Given the description of an element on the screen output the (x, y) to click on. 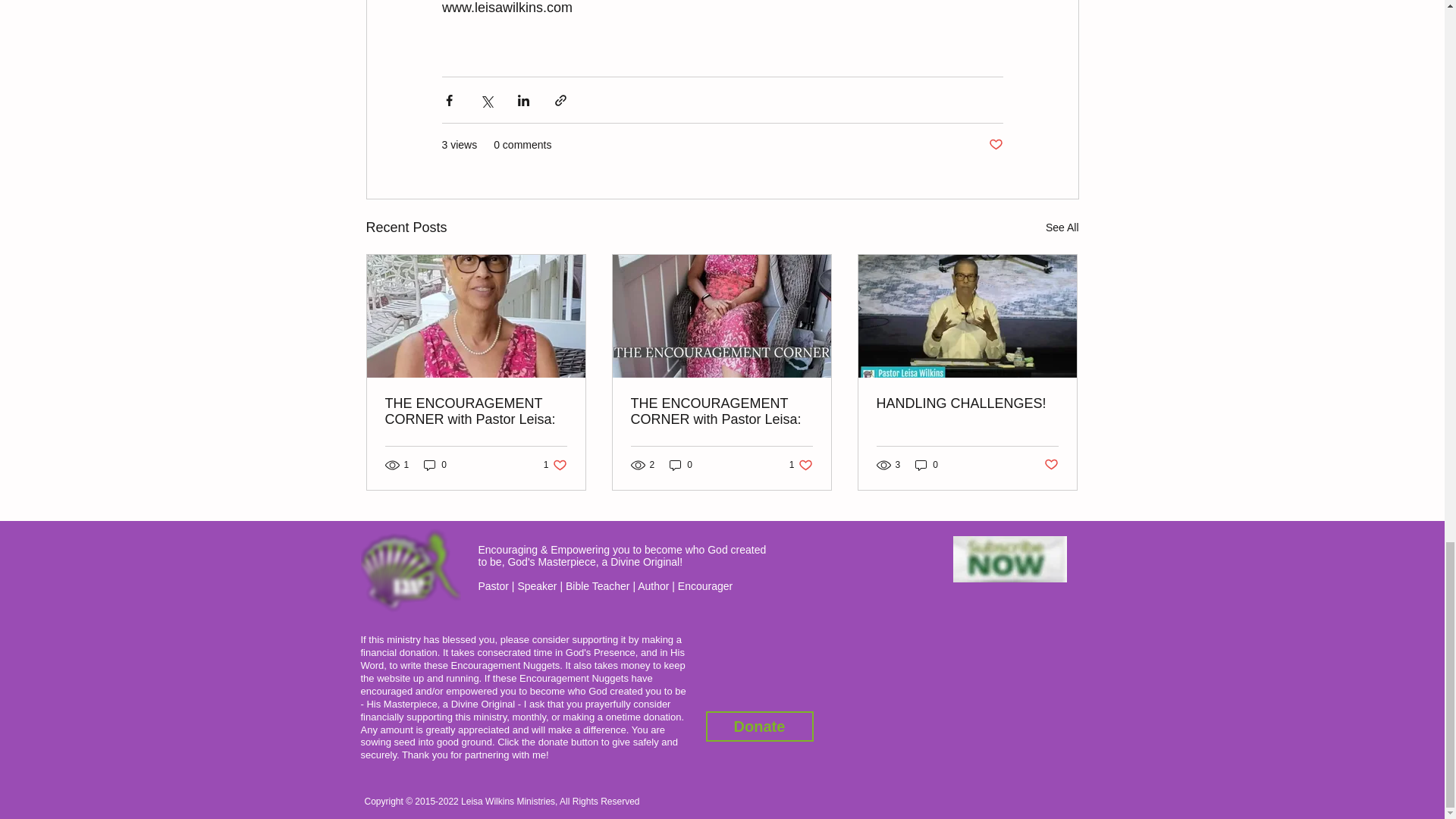
See All (1061, 228)
Post not marked as liked (995, 145)
0 (435, 464)
Donate (758, 726)
0 (681, 464)
HANDLING CHALLENGES! (967, 403)
0 (555, 464)
THE ENCOURAGEMENT CORNER with Pastor Leisa: (926, 464)
THE ENCOURAGEMENT CORNER with Pastor Leisa: (800, 464)
Post not marked as liked (721, 411)
